Given the description of an element on the screen output the (x, y) to click on. 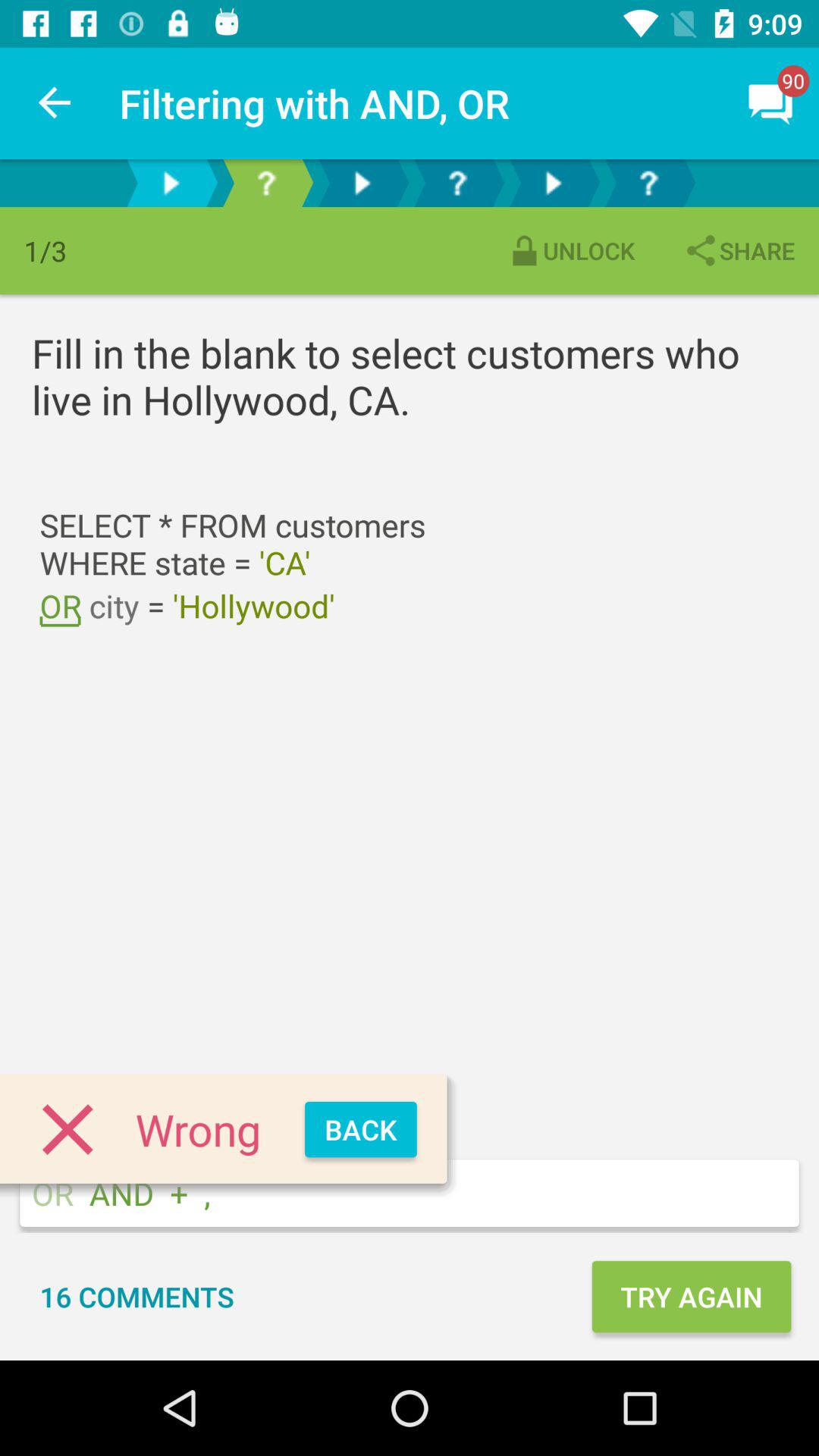
jump until the 16 comments icon (136, 1296)
